Given the description of an element on the screen output the (x, y) to click on. 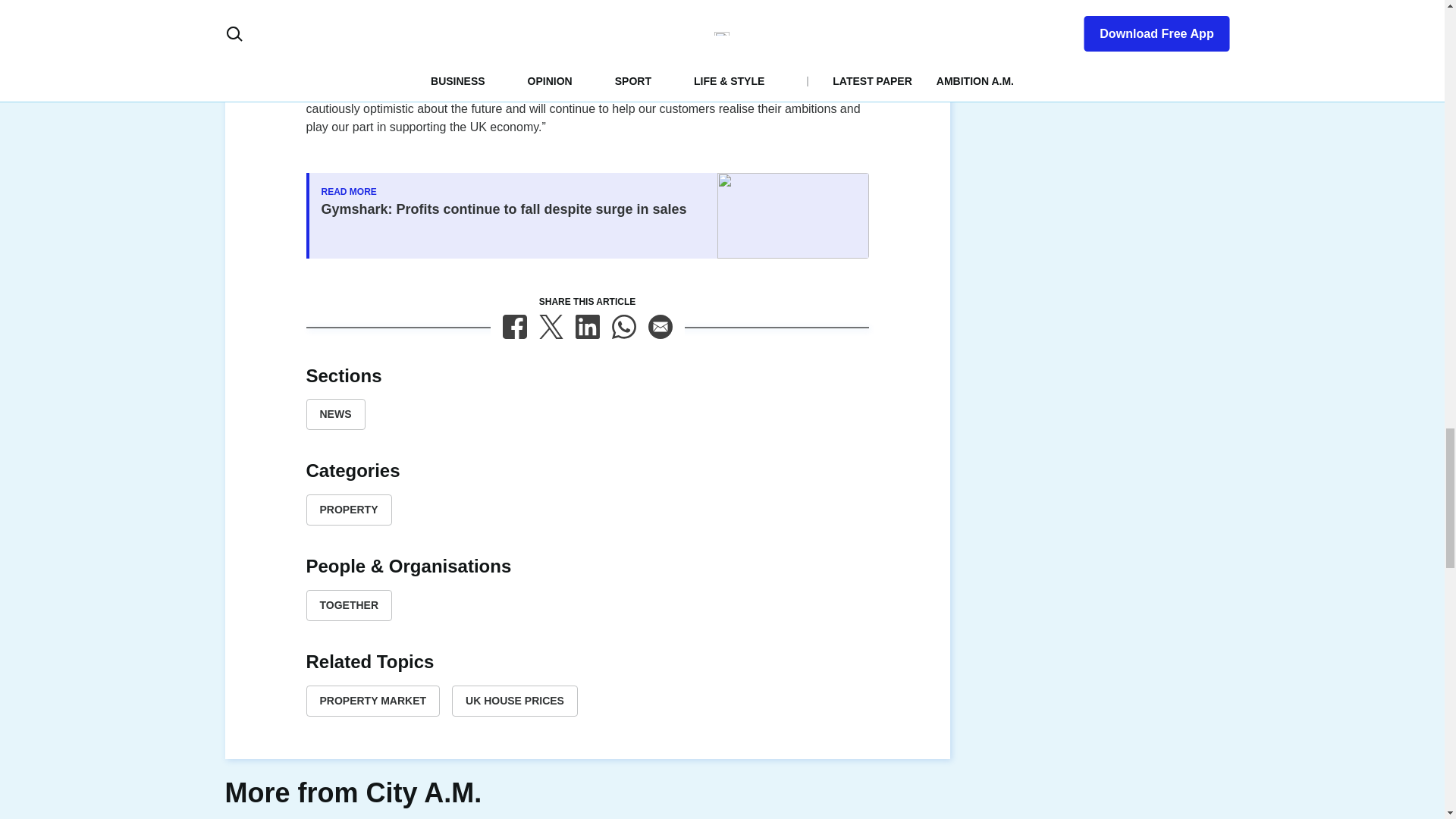
Facebook (513, 326)
LinkedIn (586, 326)
X (550, 326)
WhatsApp (622, 326)
Email (659, 326)
